Given the description of an element on the screen output the (x, y) to click on. 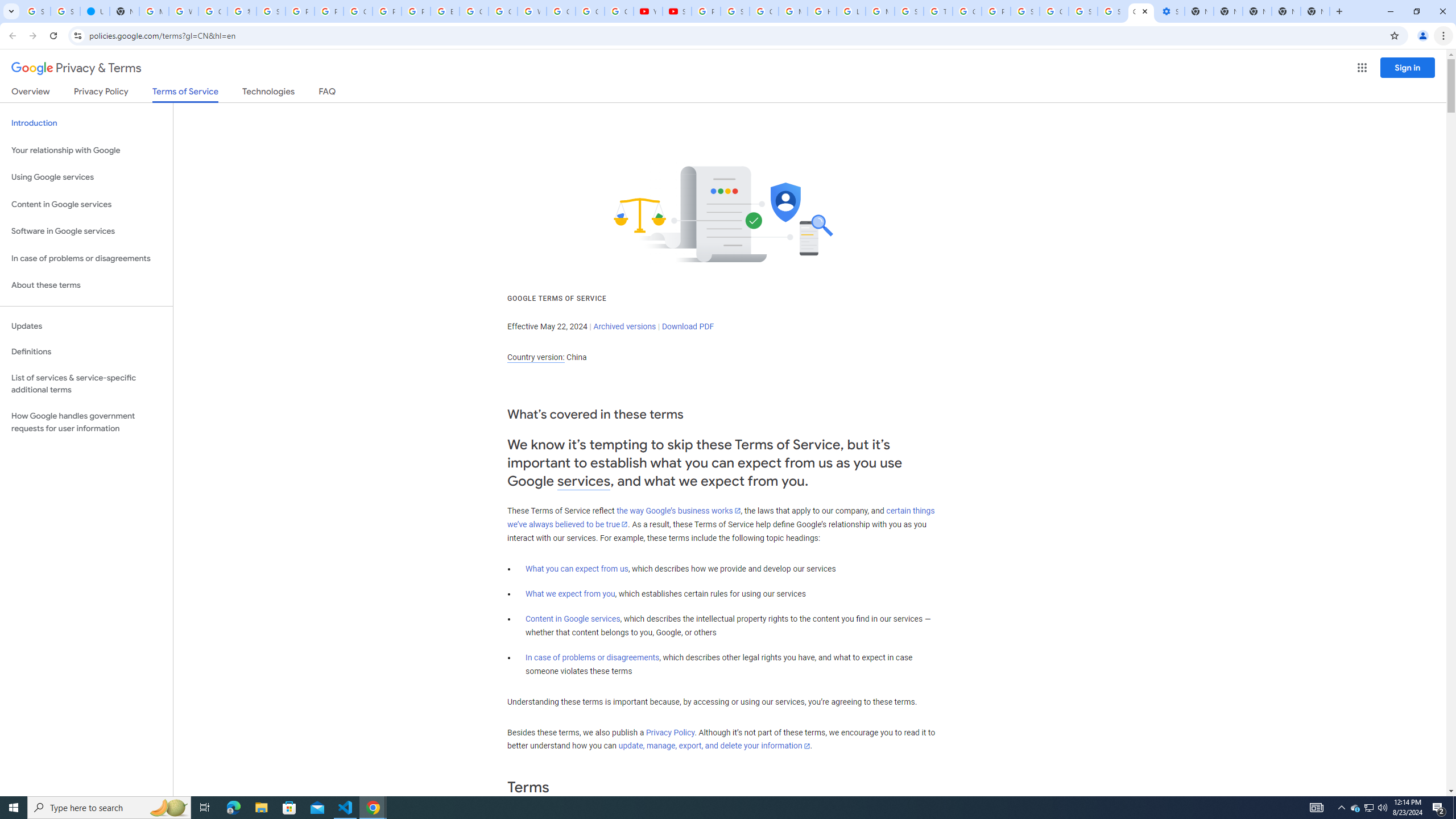
Your relationship with Google (86, 150)
USA TODAY (95, 11)
Edit and view right-to-left text - Google Docs Editors Help (444, 11)
